Given the description of an element on the screen output the (x, y) to click on. 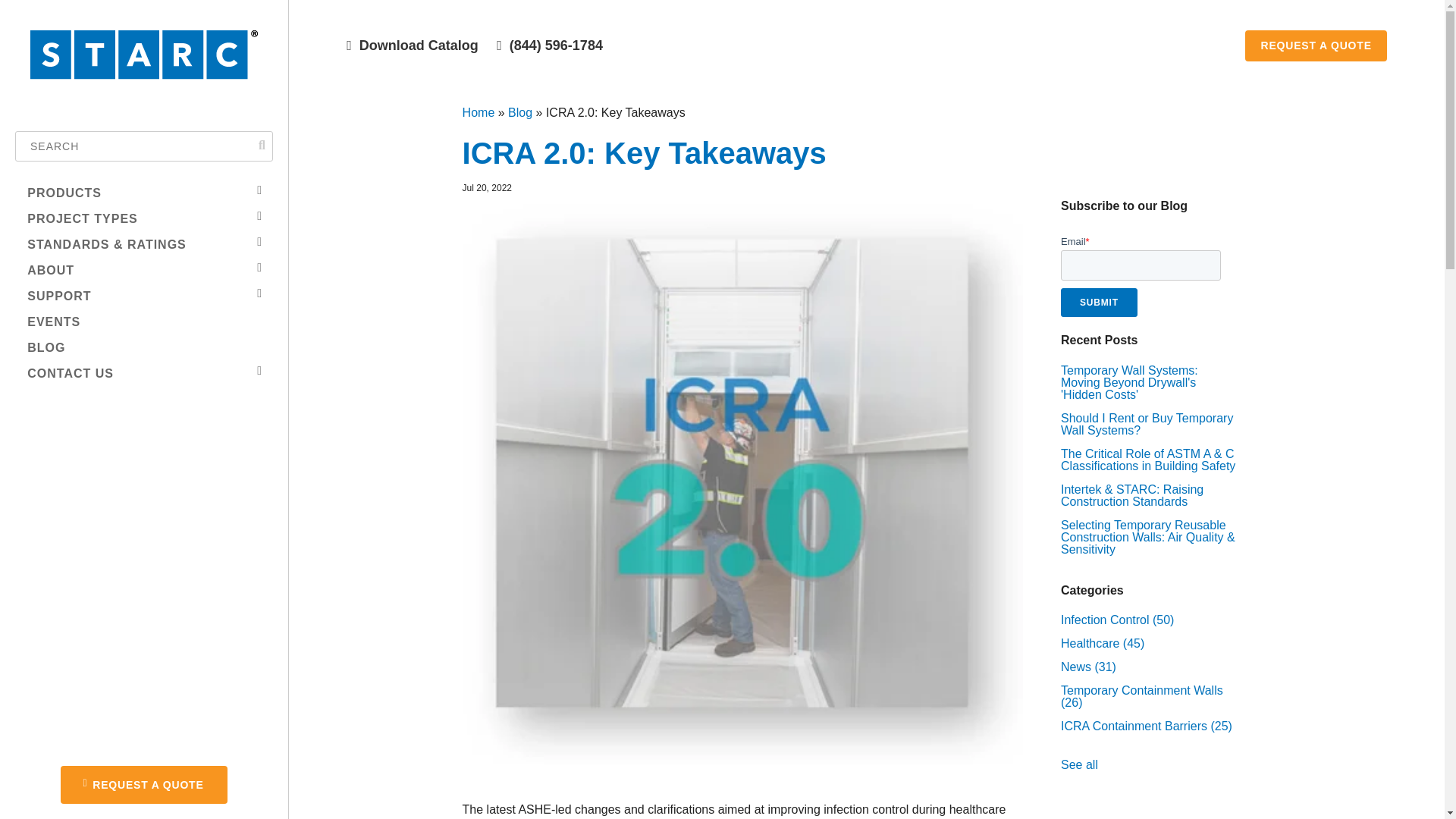
Call STARC Systems (549, 45)
PRODUCTS (137, 193)
Request a Quote (144, 784)
Submit (1099, 302)
Request a Quote (1315, 45)
STARC Systems (143, 80)
